Given the description of an element on the screen output the (x, y) to click on. 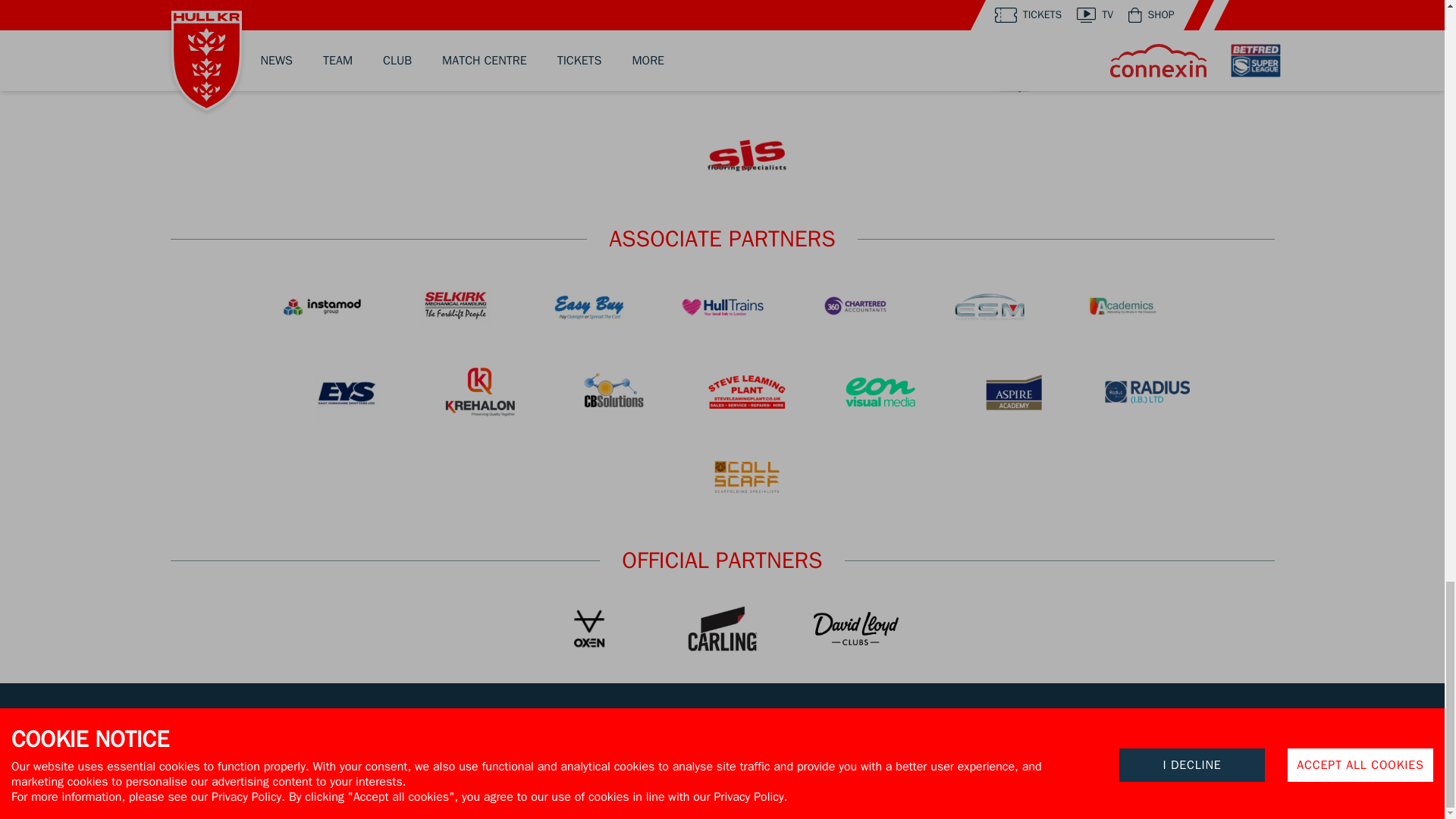
Instamod (321, 306)
WOW HYDRATE (454, 13)
Hirebase (478, 70)
University of Hull (988, 13)
The One Point (721, 13)
MKM (321, 13)
SJS Flooring Specialists (746, 155)
Designs (1146, 70)
Evans Halshaw (855, 13)
Keepmoat Homes (588, 13)
